Given the description of an element on the screen output the (x, y) to click on. 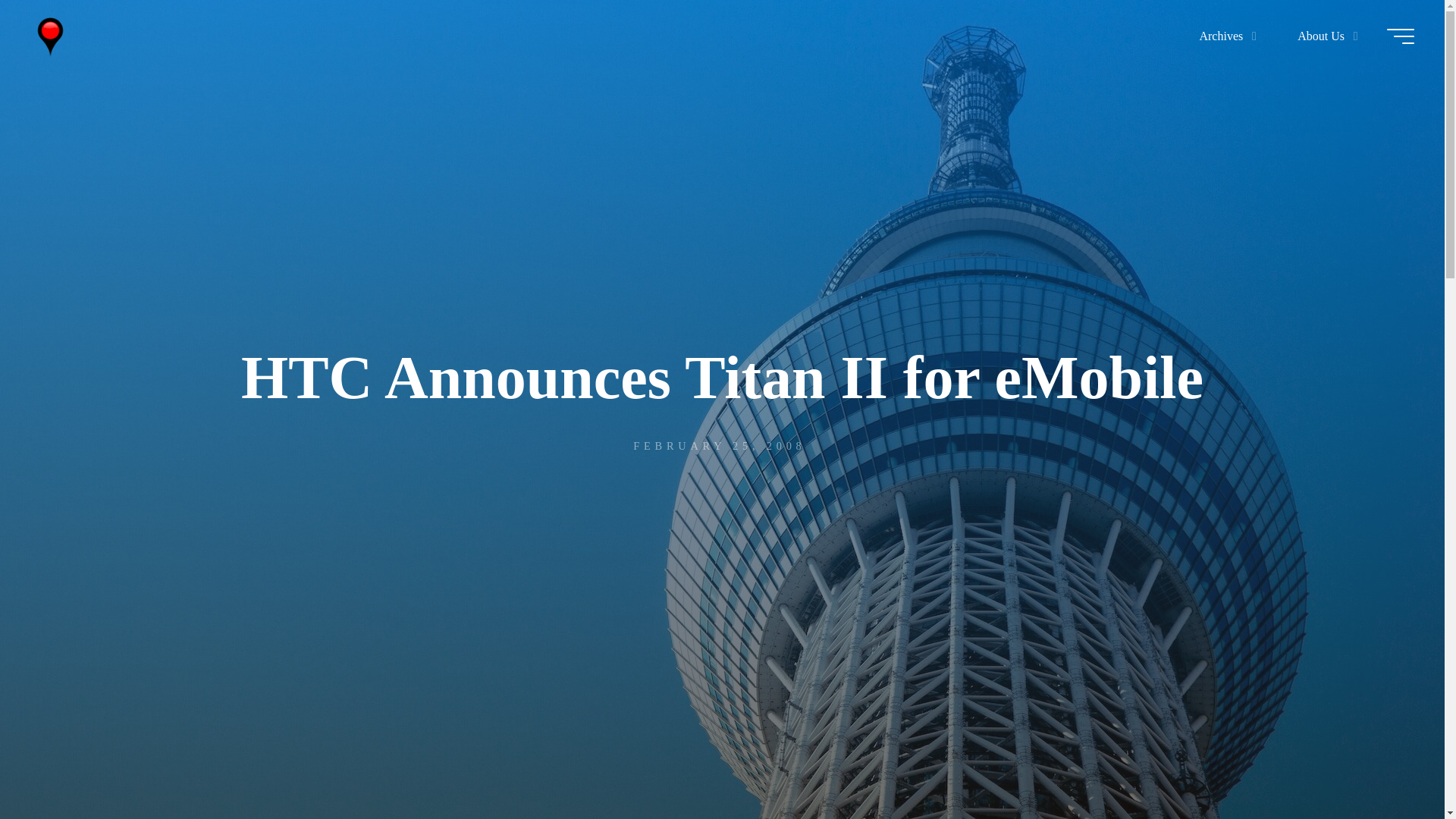
Read more (721, 724)
Archives (1223, 35)
Wireless Watch Japan (49, 35)
